Given the description of an element on the screen output the (x, y) to click on. 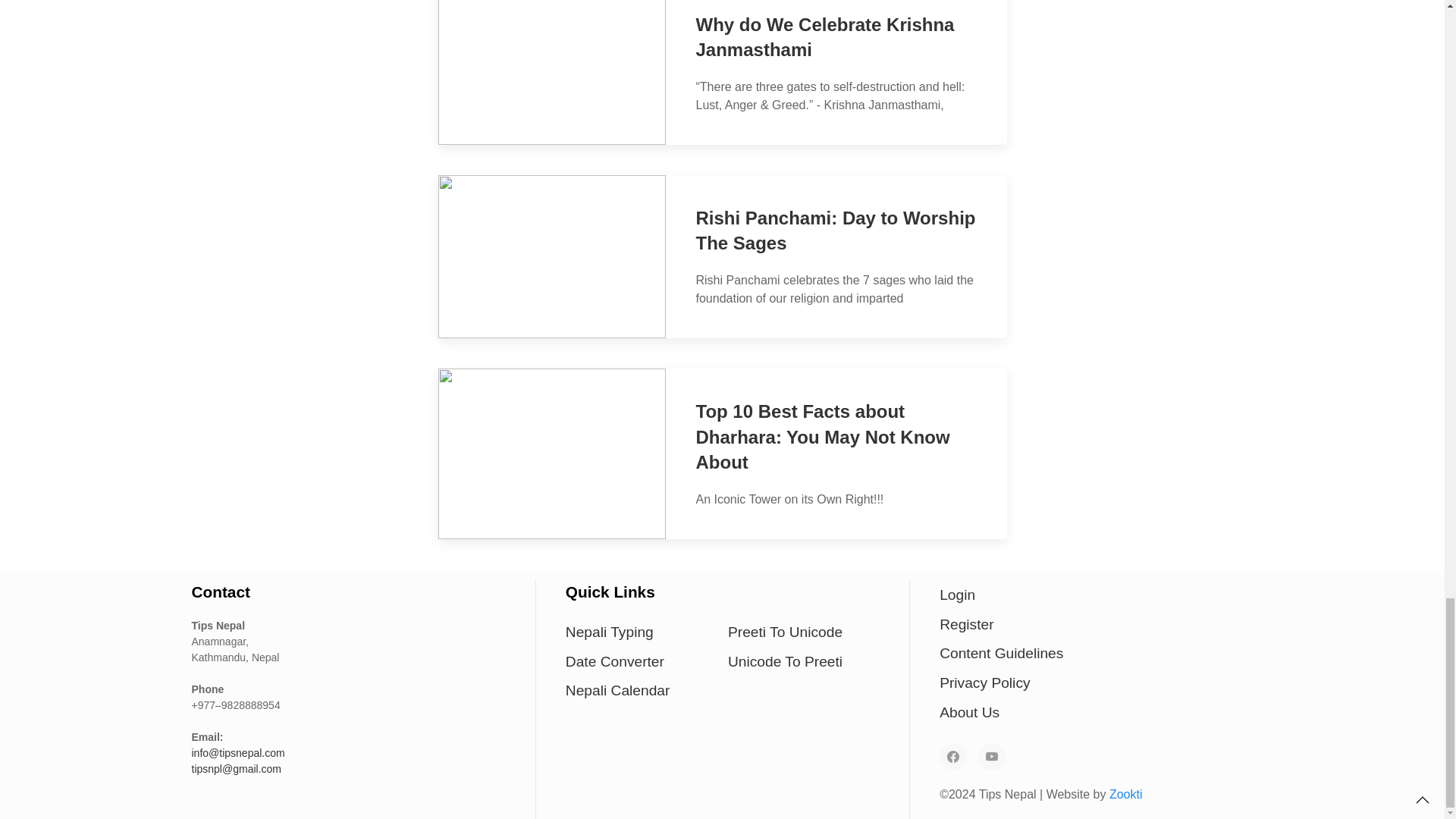
Rishi Panchami: Day to Worship The Sages (835, 230)
Why do We Celebrate Krishna Janmasthami (825, 37)
